Given the description of an element on the screen output the (x, y) to click on. 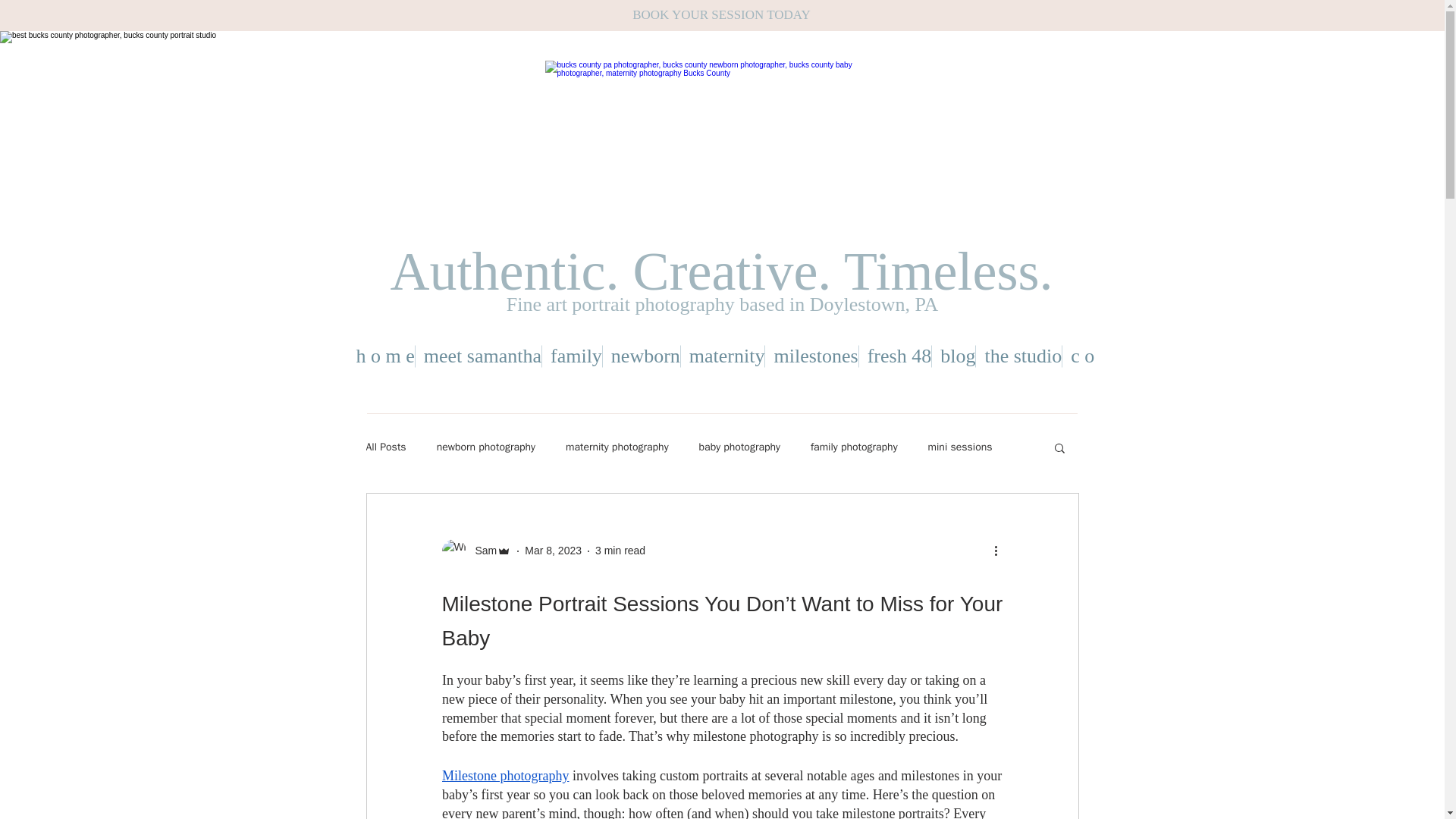
family (576, 355)
fresh 48 (898, 355)
Milestone photography (504, 775)
maternity photography (617, 447)
Sam (476, 550)
meet samantha (482, 355)
3 min read (620, 550)
milestones (816, 355)
BOOK YOUR SESSION TODAY (720, 14)
All Posts (385, 447)
